Given the description of an element on the screen output the (x, y) to click on. 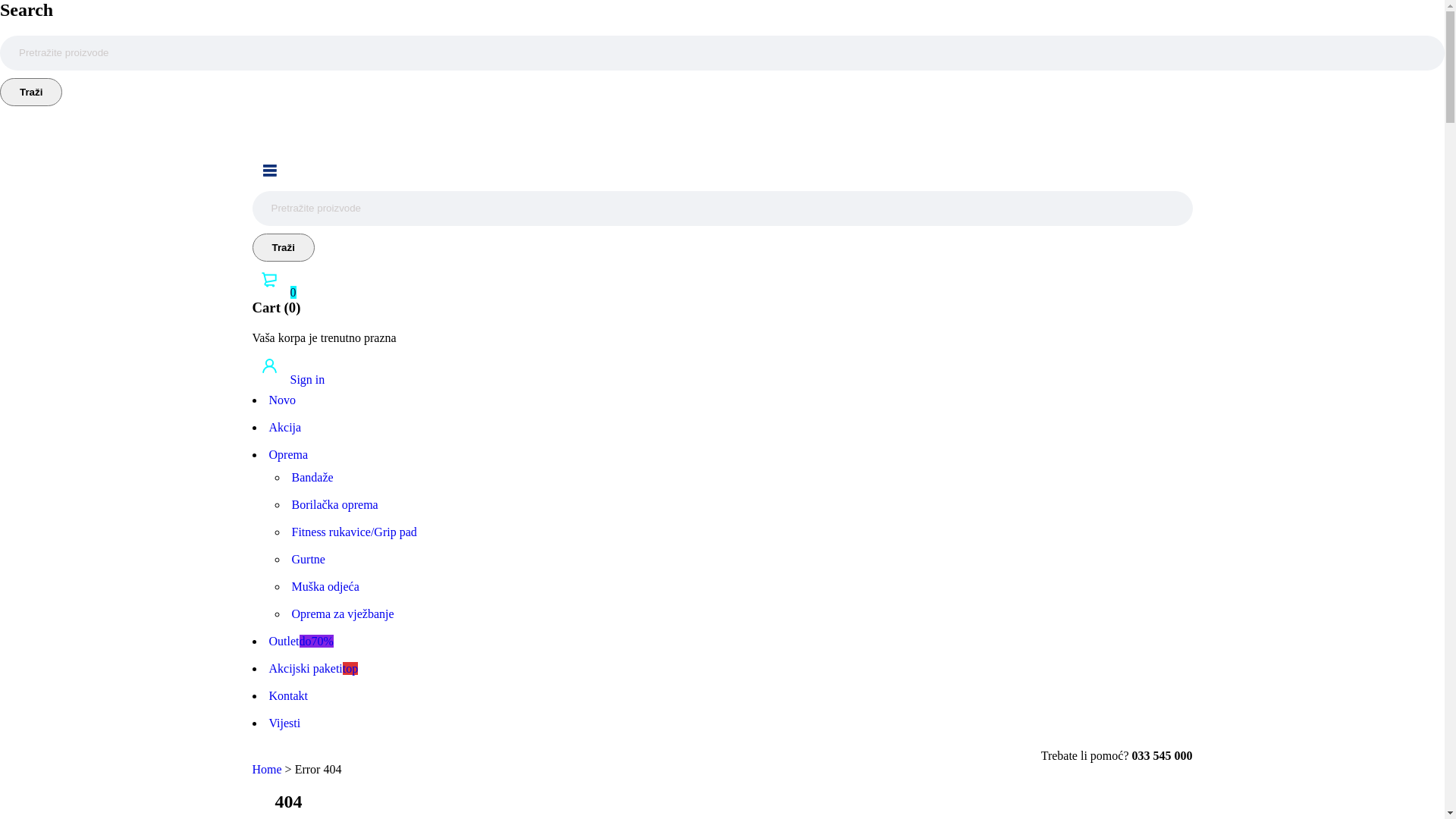
Novo Element type: text (281, 399)
Home Element type: text (266, 768)
Kontakt Element type: text (287, 695)
Vijesti Element type: text (284, 722)
Akcija Element type: text (284, 426)
Outletdo70% Element type: text (300, 640)
Gurtne Element type: text (307, 558)
Oprema Element type: text (287, 454)
Fitness rukavice/Grip pad Element type: text (353, 531)
Akcijski paketitop Element type: text (312, 668)
Sign in Element type: text (287, 379)
0 Element type: text (273, 291)
